Given the description of an element on the screen output the (x, y) to click on. 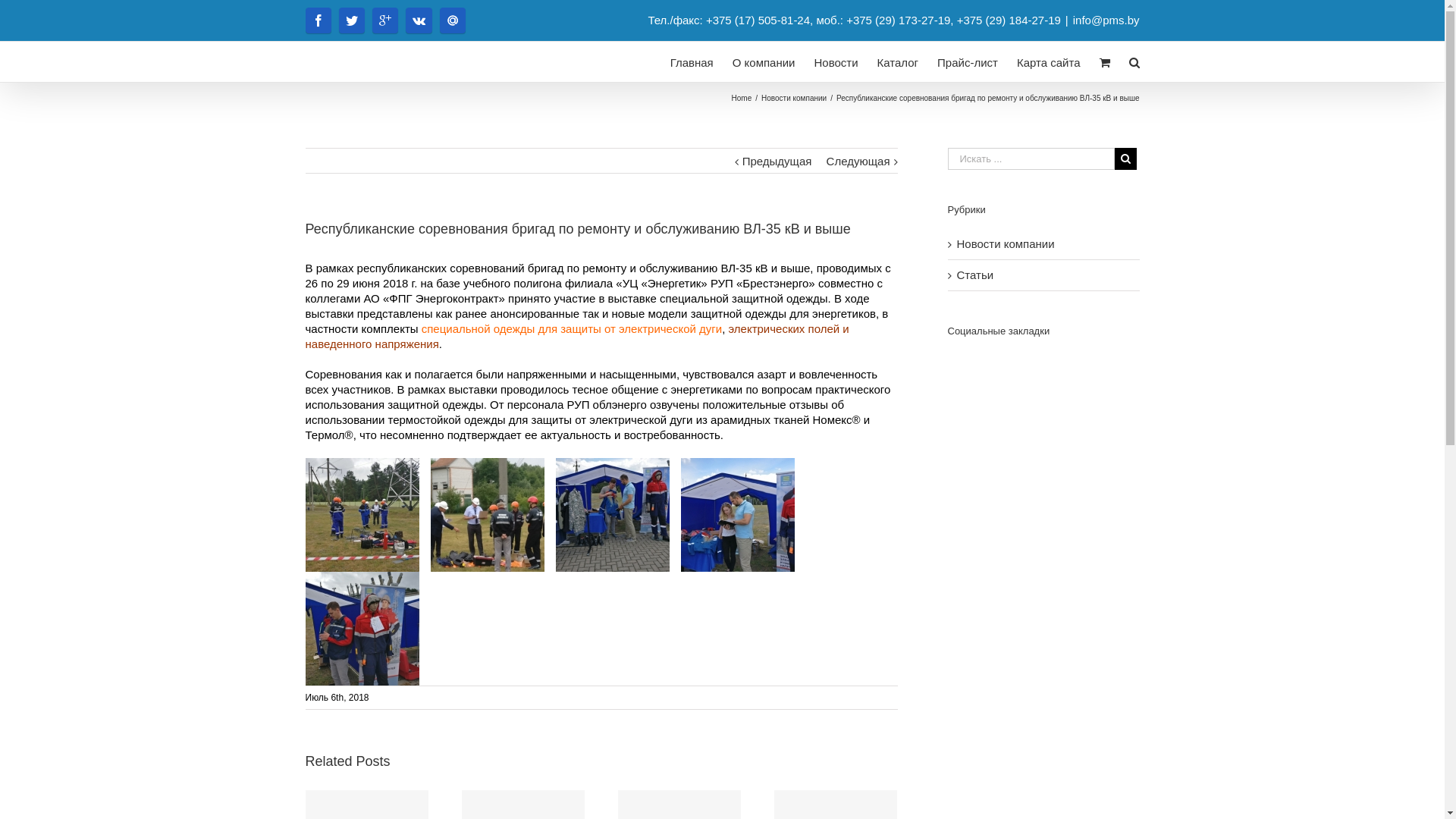
Home Element type: text (741, 98)
info@pms.by Element type: text (1106, 19)
